Given the description of an element on the screen output the (x, y) to click on. 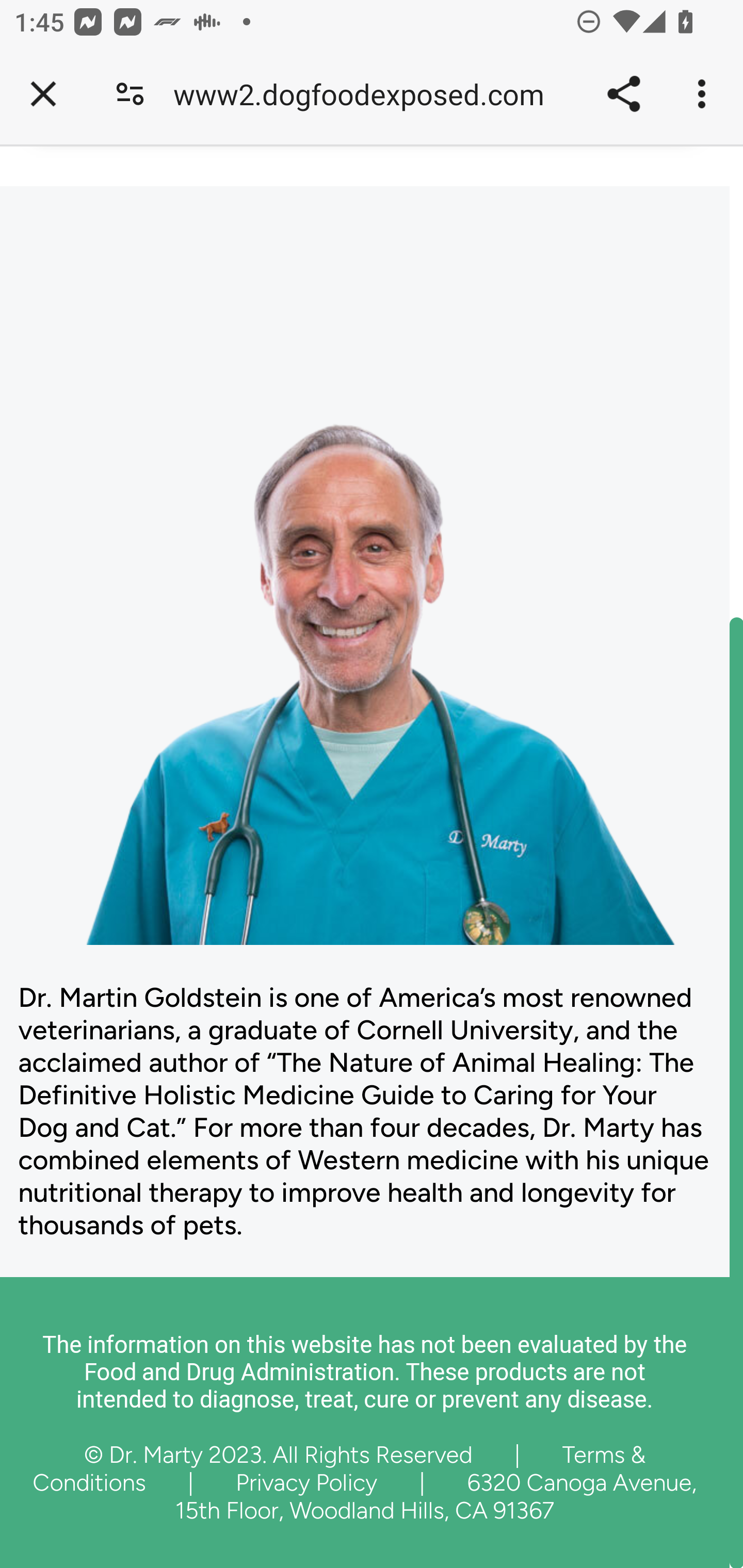
Close tab (43, 93)
Share (623, 93)
Customize and control Google Chrome (705, 93)
Connection is secure (129, 93)
www2.dogfoodexposed.com (365, 93)
Terms & Conditions (339, 1466)
Privacy Policy (306, 1481)
